Given the description of an element on the screen output the (x, y) to click on. 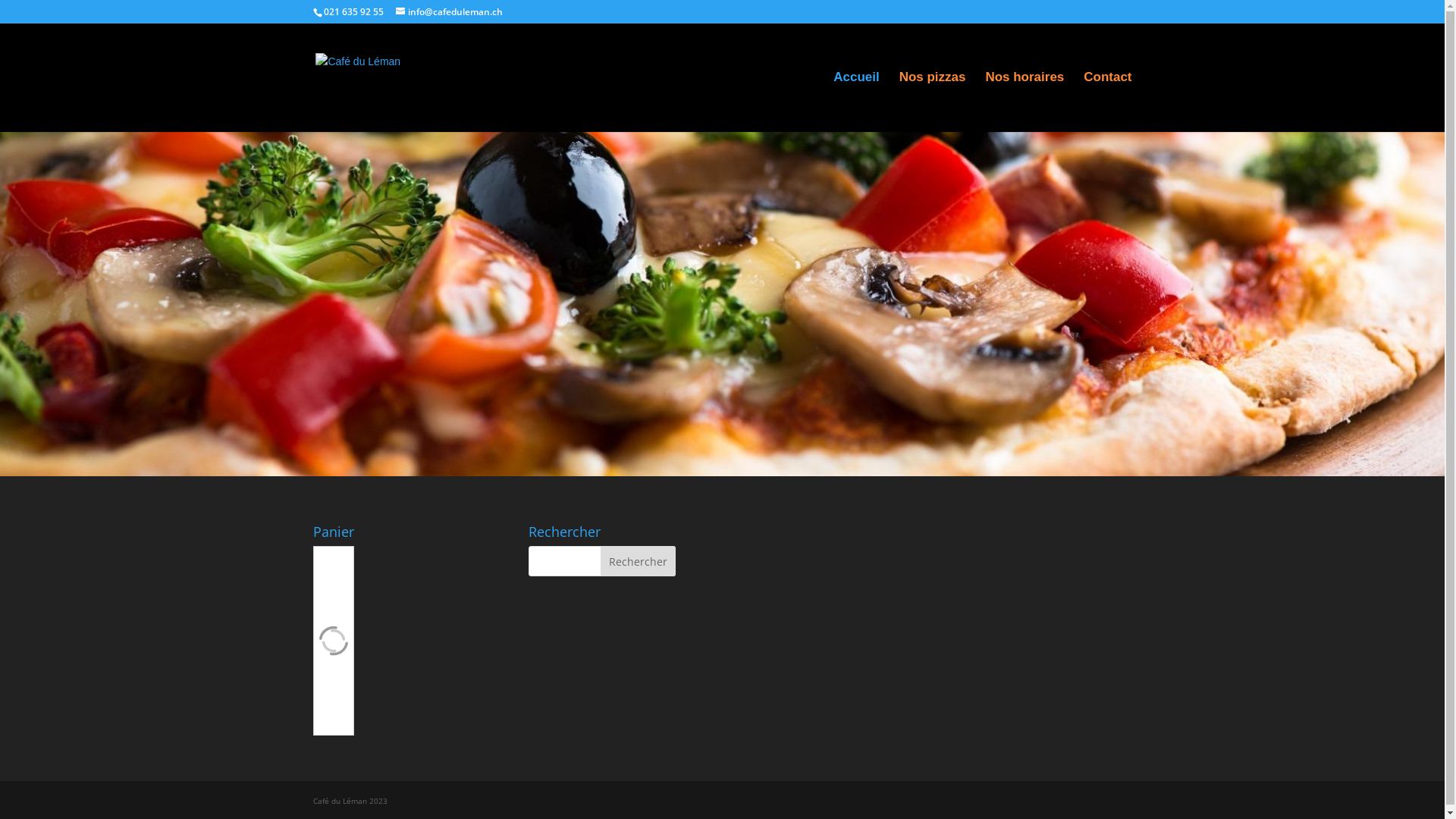
Contact Element type: text (1107, 101)
Accueil Element type: text (855, 101)
Nos pizzas Element type: text (932, 101)
Rechercher Element type: text (637, 561)
Nos horaires Element type: text (1024, 101)
info@cafeduleman.ch Element type: text (448, 11)
